Given the description of an element on the screen output the (x, y) to click on. 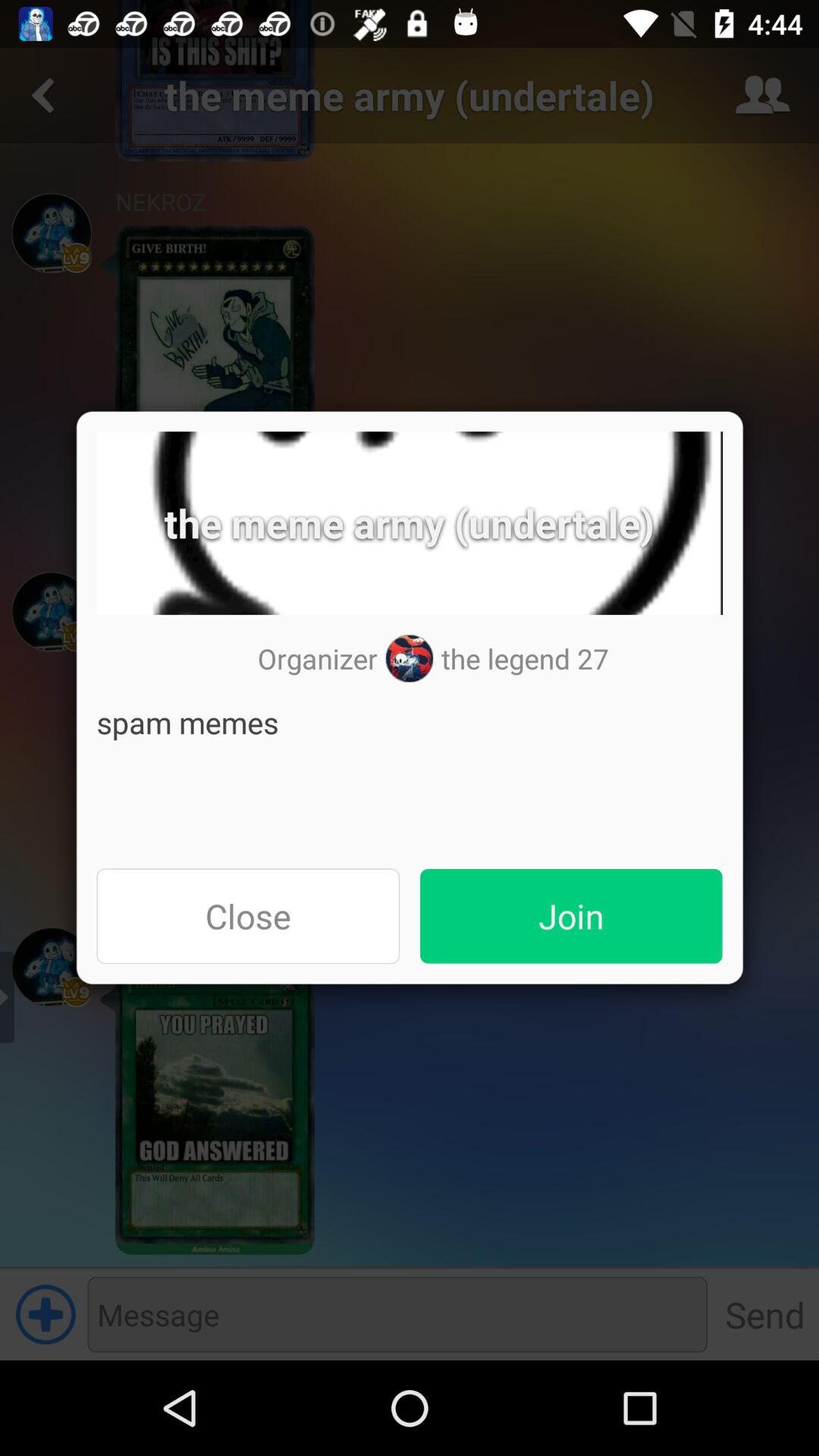
flip until close button (247, 916)
